Given the description of an element on the screen output the (x, y) to click on. 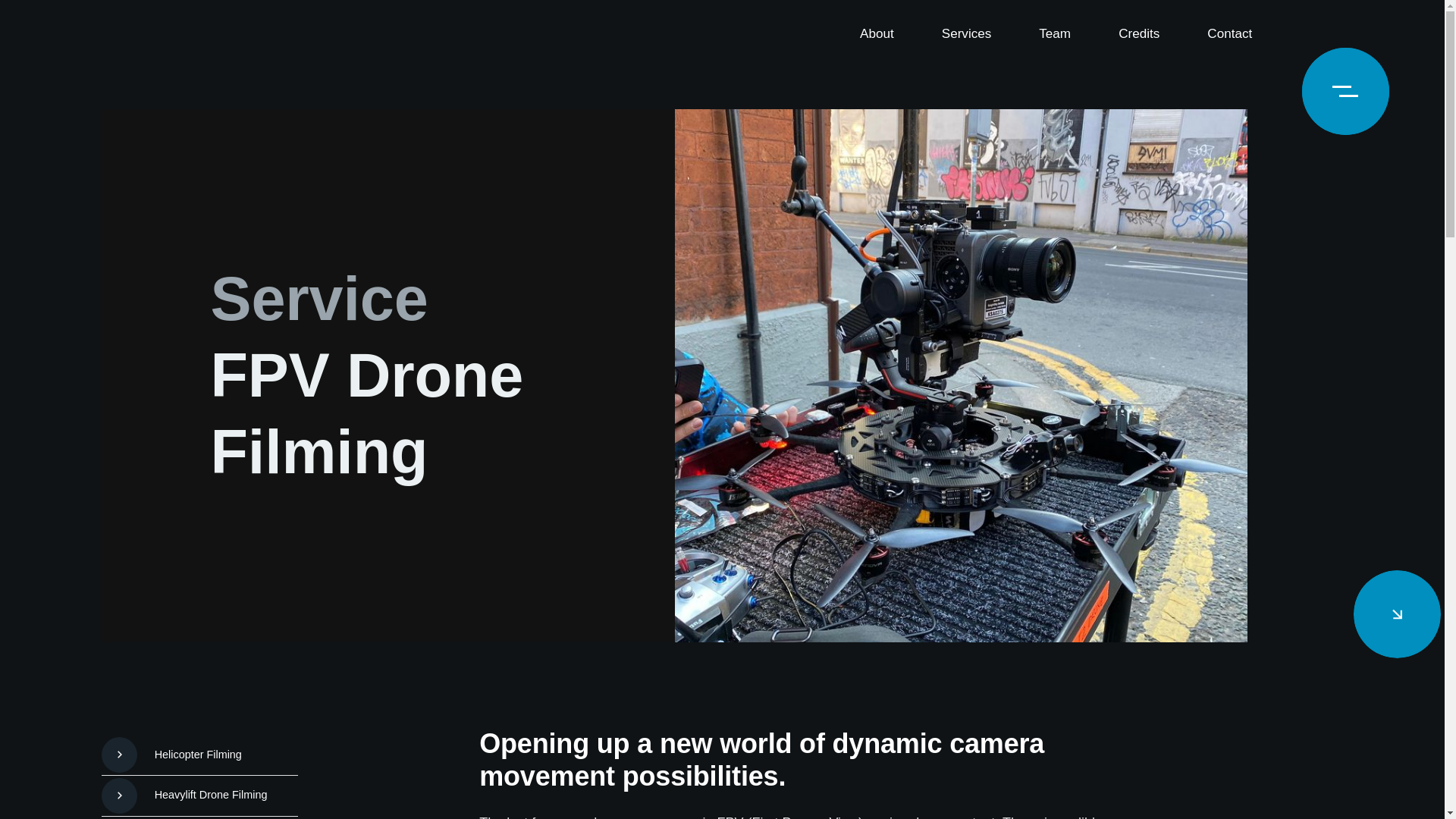
Privacy (1227, 775)
Helicopter Filming (199, 755)
Heavylift Drone Filming (199, 796)
Get in Touch (827, 666)
Contact (1229, 33)
About (876, 33)
Credits (1138, 33)
Services (965, 33)
Team (1054, 33)
